Given the description of an element on the screen output the (x, y) to click on. 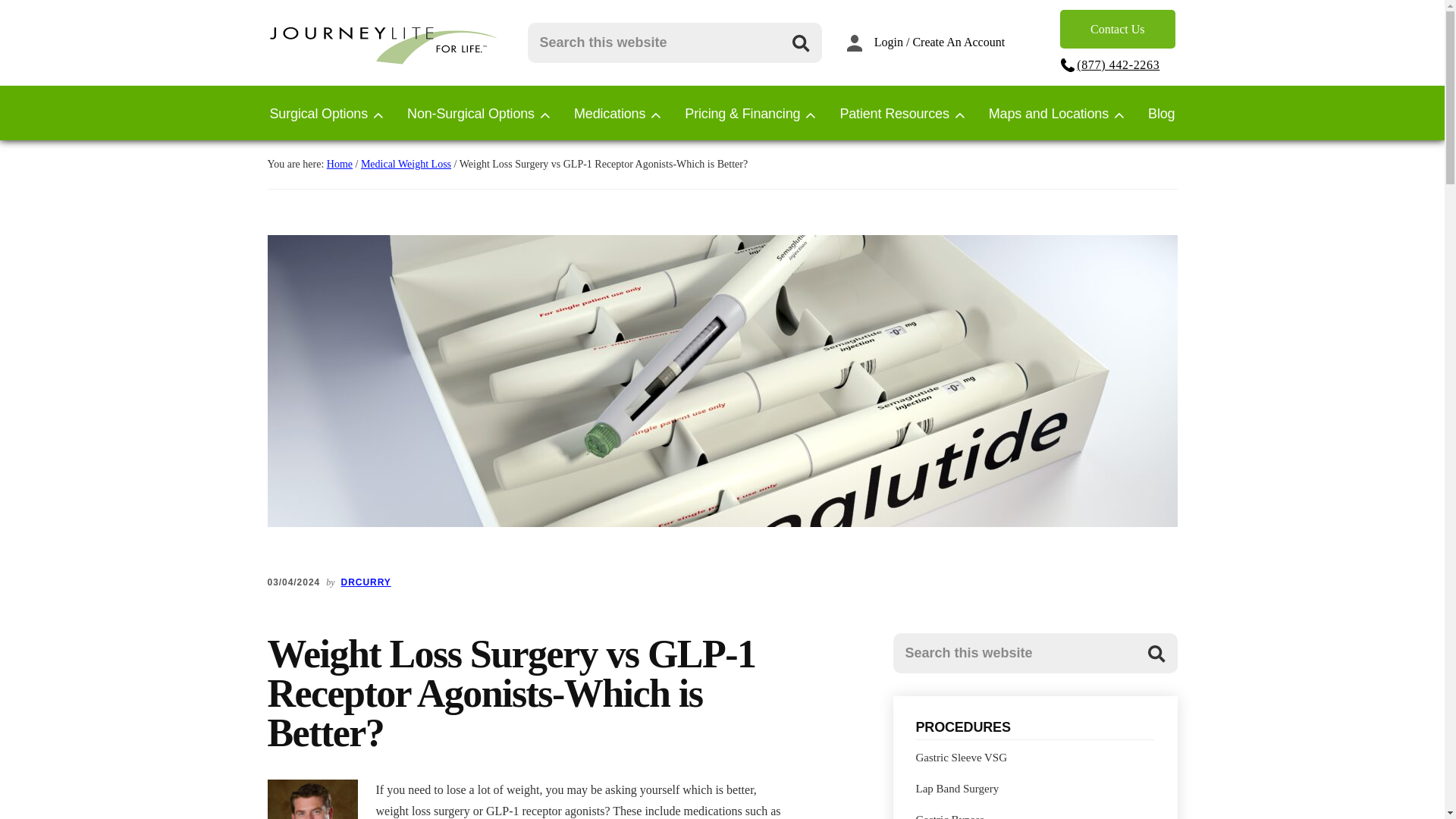
Patient Resources (894, 110)
Maps and Locations (1048, 110)
Non-Surgical Options (470, 110)
Surgical Options (318, 110)
Medications (609, 110)
Contact Us (1116, 28)
